Given the description of an element on the screen output the (x, y) to click on. 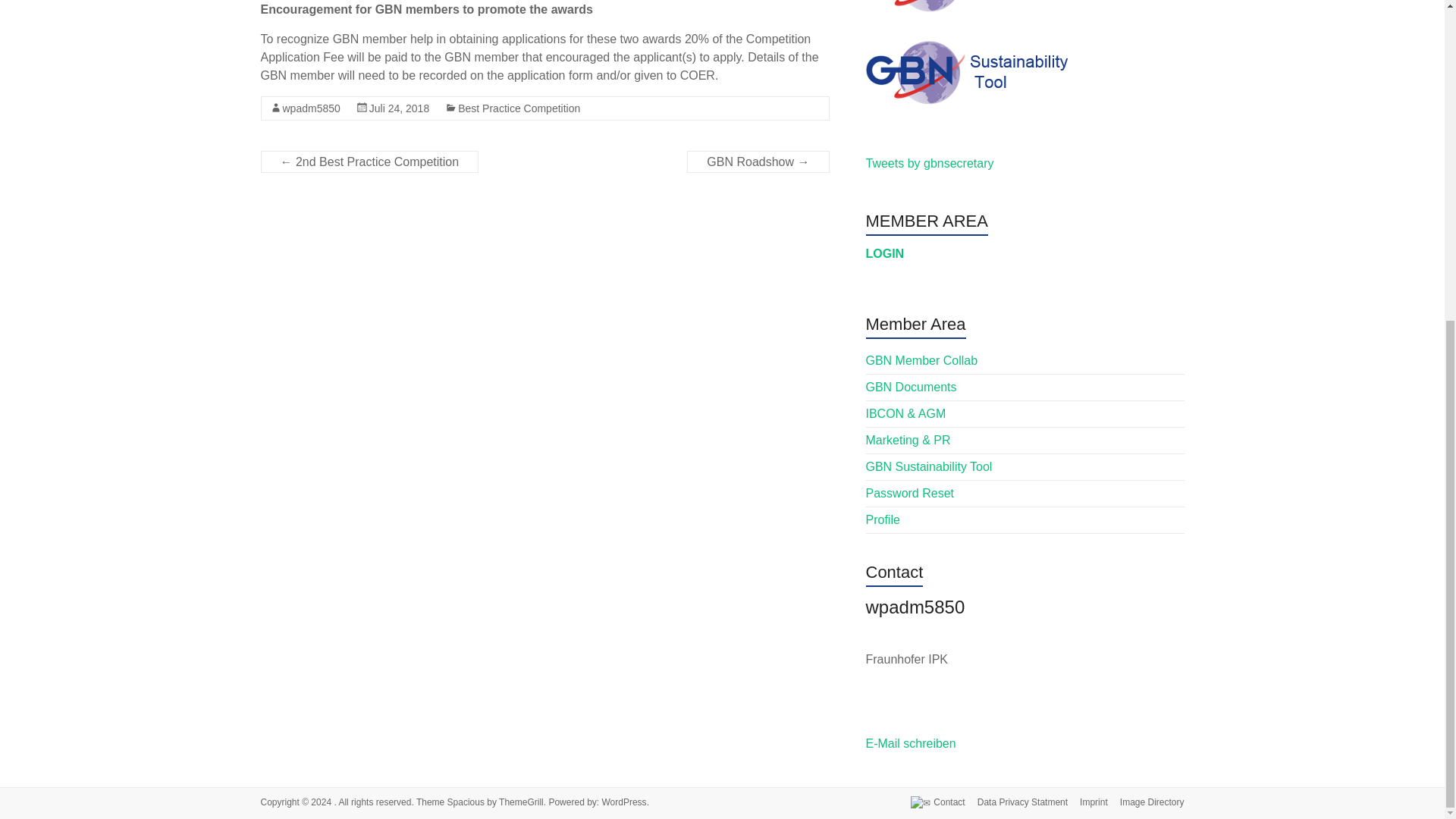
Juli 24, 2018 (399, 108)
Artikel von wpadm5850 (1025, 614)
wpadm5850 (310, 108)
Best Practice Competition (518, 108)
Spacious (465, 801)
Tweets by gbnsecretary (930, 163)
WordPress (623, 801)
3:56 pm (399, 108)
